Given the description of an element on the screen output the (x, y) to click on. 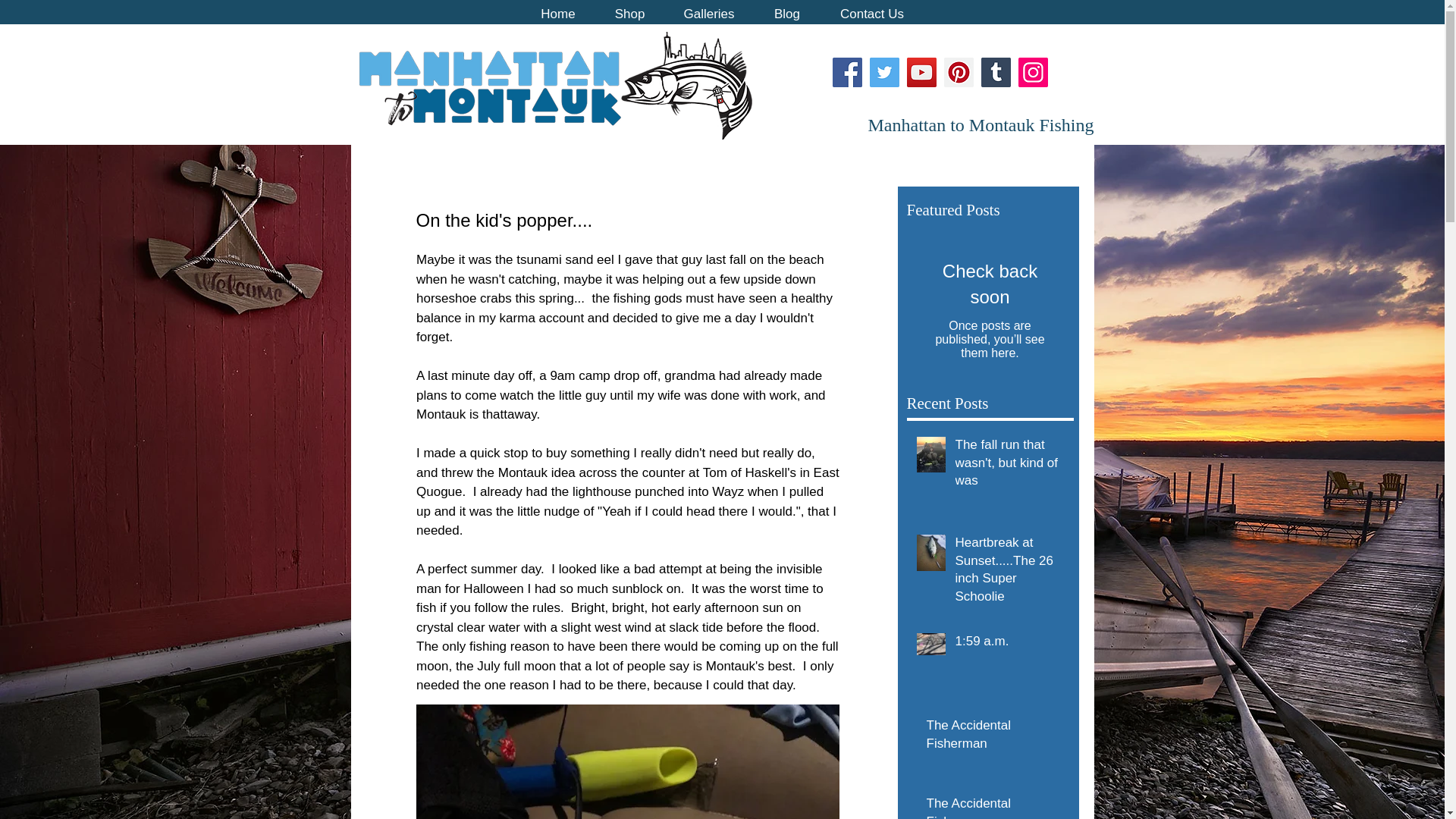
Blog (786, 11)
logo.png (555, 85)
Heartbreak at Sunset.....The 26 inch Super Schoolie (1009, 572)
The Accidental Fisherman (995, 737)
The Accidental Fisherman (995, 806)
1:59 a.m. (1009, 644)
Manhattan to Montauk Fishing (980, 125)
Galleries (708, 11)
Home (557, 11)
The fall run that wasn't, but kind of was (1009, 465)
